Given the description of an element on the screen output the (x, y) to click on. 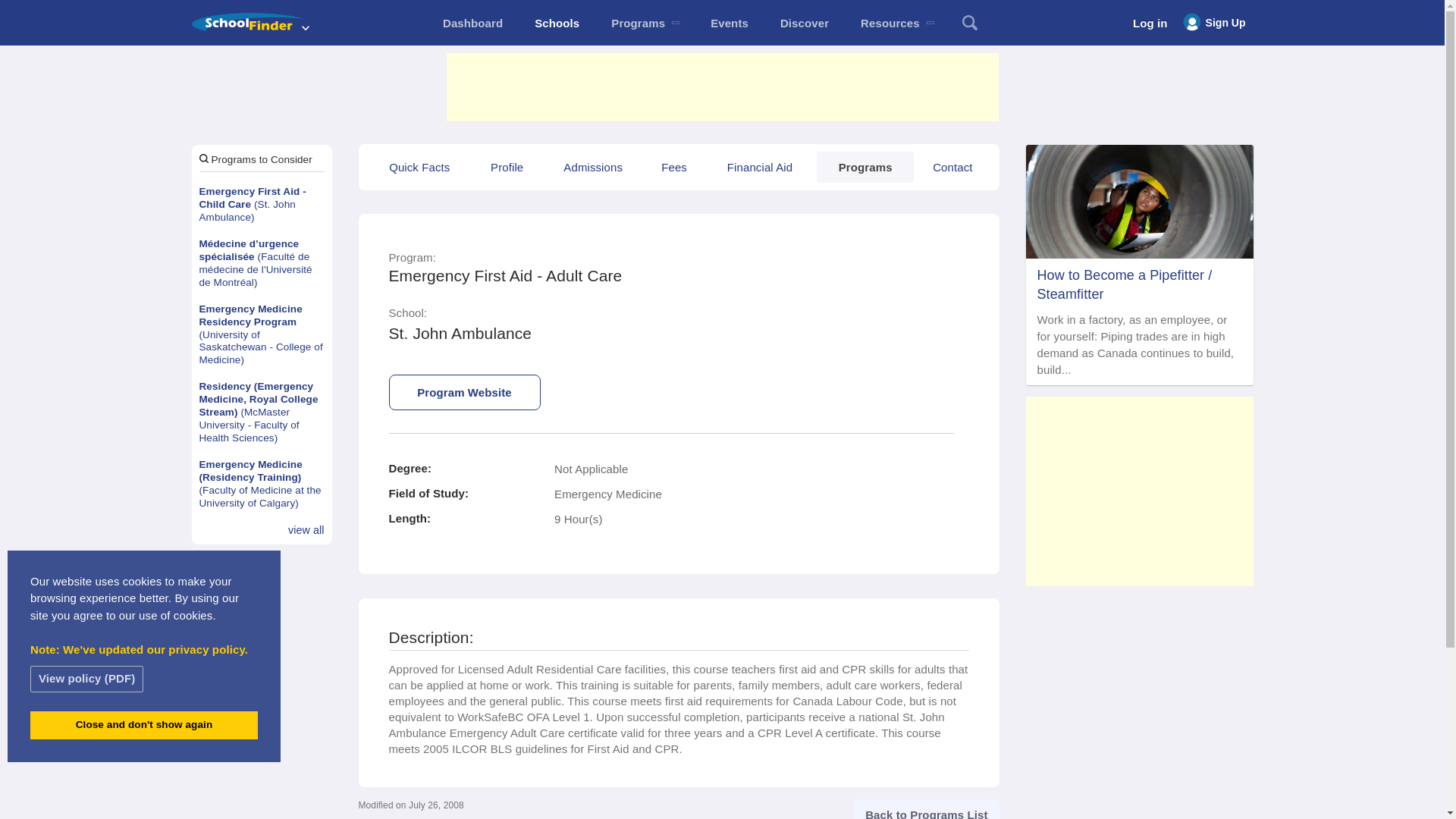
Profile (506, 166)
Events (729, 22)
Schools (556, 22)
Admissions (592, 166)
mySTUFF (472, 22)
Resources (896, 22)
Programs (644, 22)
Advertisement (1138, 491)
Fees (674, 166)
Sign Up (1213, 22)
Schools (556, 22)
Financial Aid (759, 166)
Advertisement (721, 87)
Discover (804, 22)
view all (306, 530)
